Given the description of an element on the screen output the (x, y) to click on. 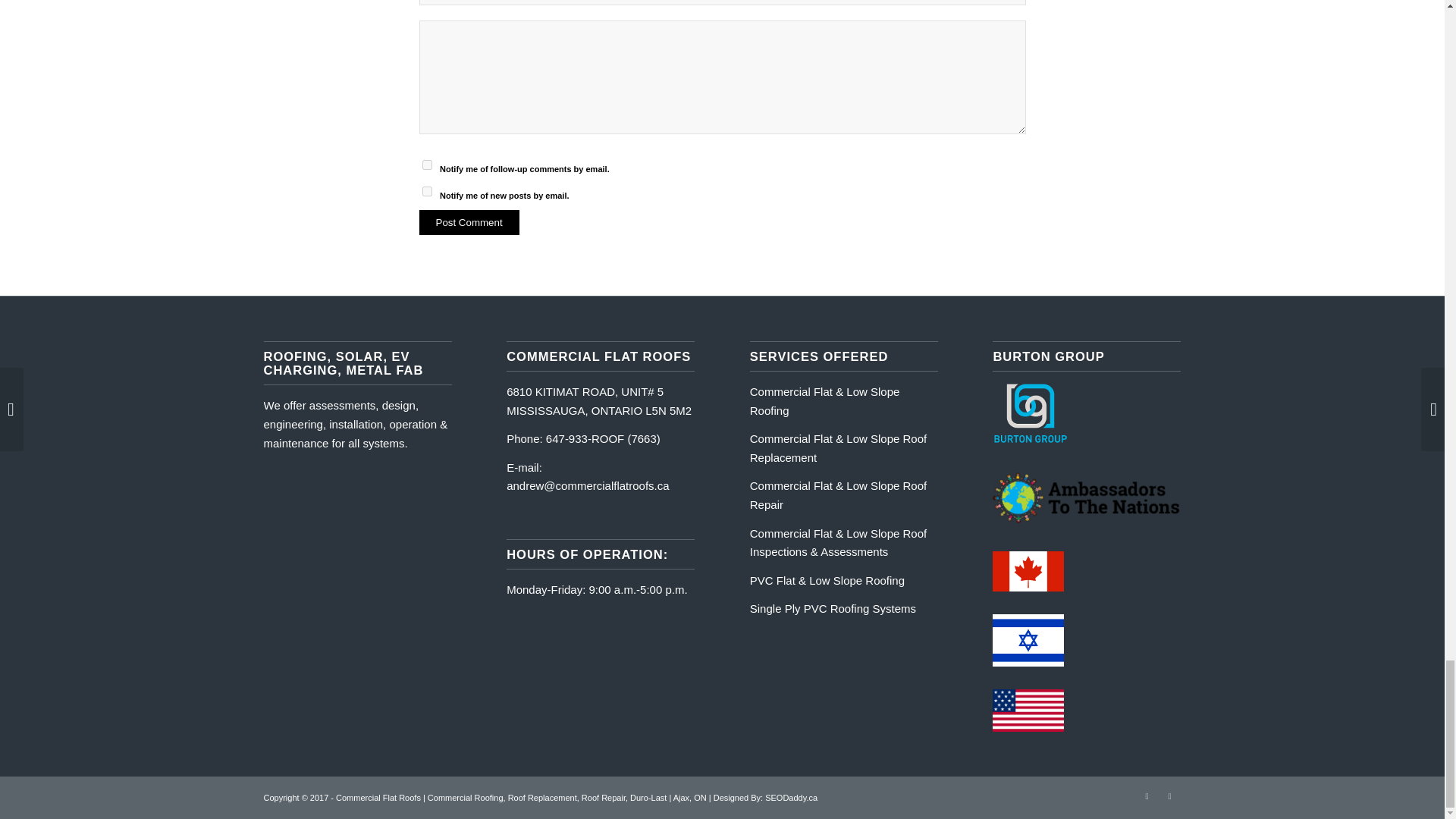
subscribe (426, 191)
subscribe (426, 164)
Post Comment (468, 222)
